Given the description of an element on the screen output the (x, y) to click on. 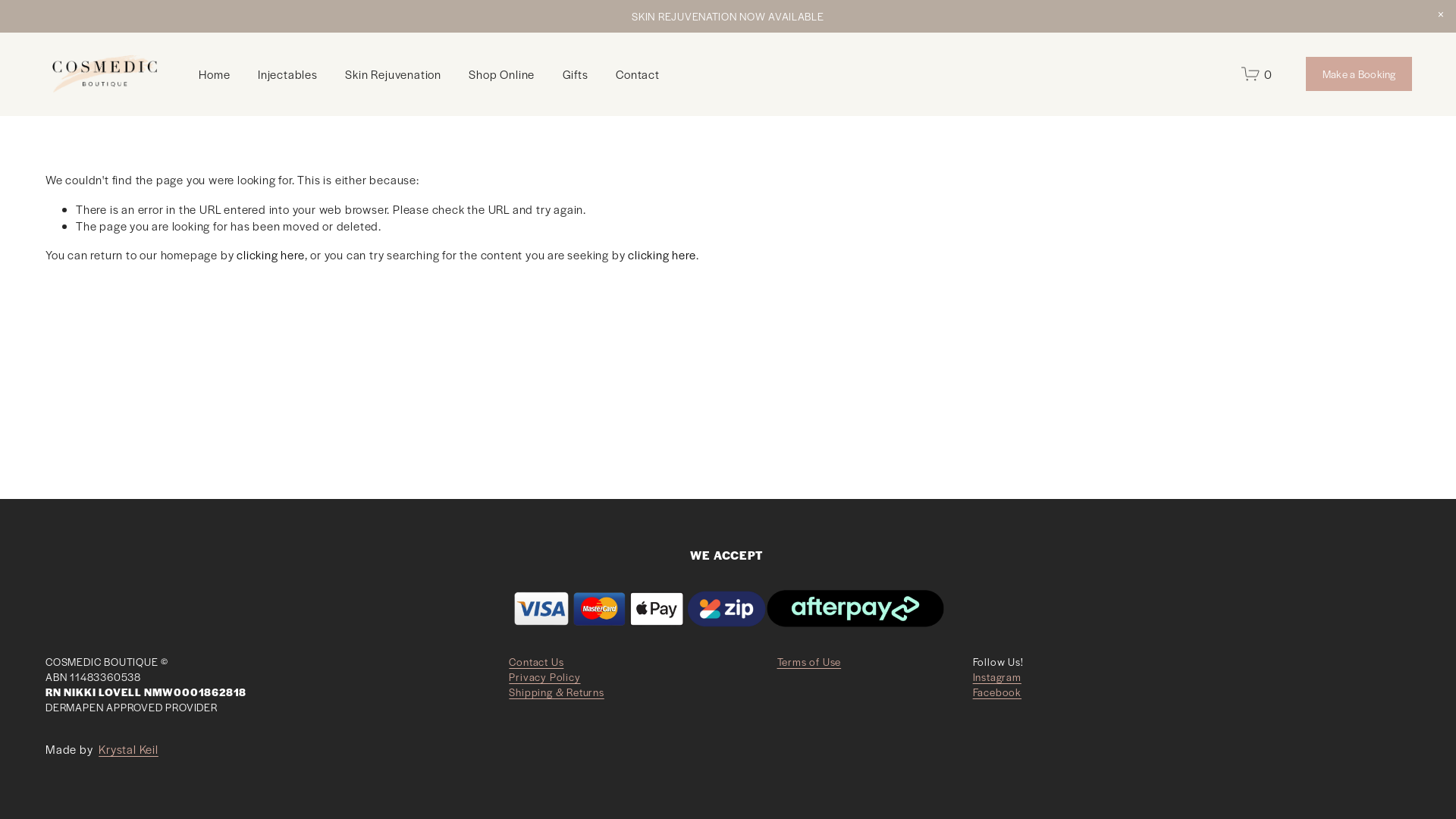
Facebook Element type: text (996, 691)
Home Element type: text (213, 74)
clicking here Element type: text (661, 254)
Krystal Keil Element type: text (128, 748)
Injectables Element type: text (287, 74)
Contact Element type: text (637, 74)
Skin Rejuvenation Element type: text (393, 74)
Instagram Element type: text (996, 676)
clicking here Element type: text (270, 254)
Shipping & Returns Element type: text (555, 691)
Privacy Policy Element type: text (544, 676)
Shop Online Element type: text (501, 74)
Terms of Use Element type: text (809, 661)
0 Element type: text (1256, 73)
Contact Us Element type: text (535, 661)
Make a Booking Element type: text (1358, 73)
Gifts Element type: text (575, 74)
